Given the description of an element on the screen output the (x, y) to click on. 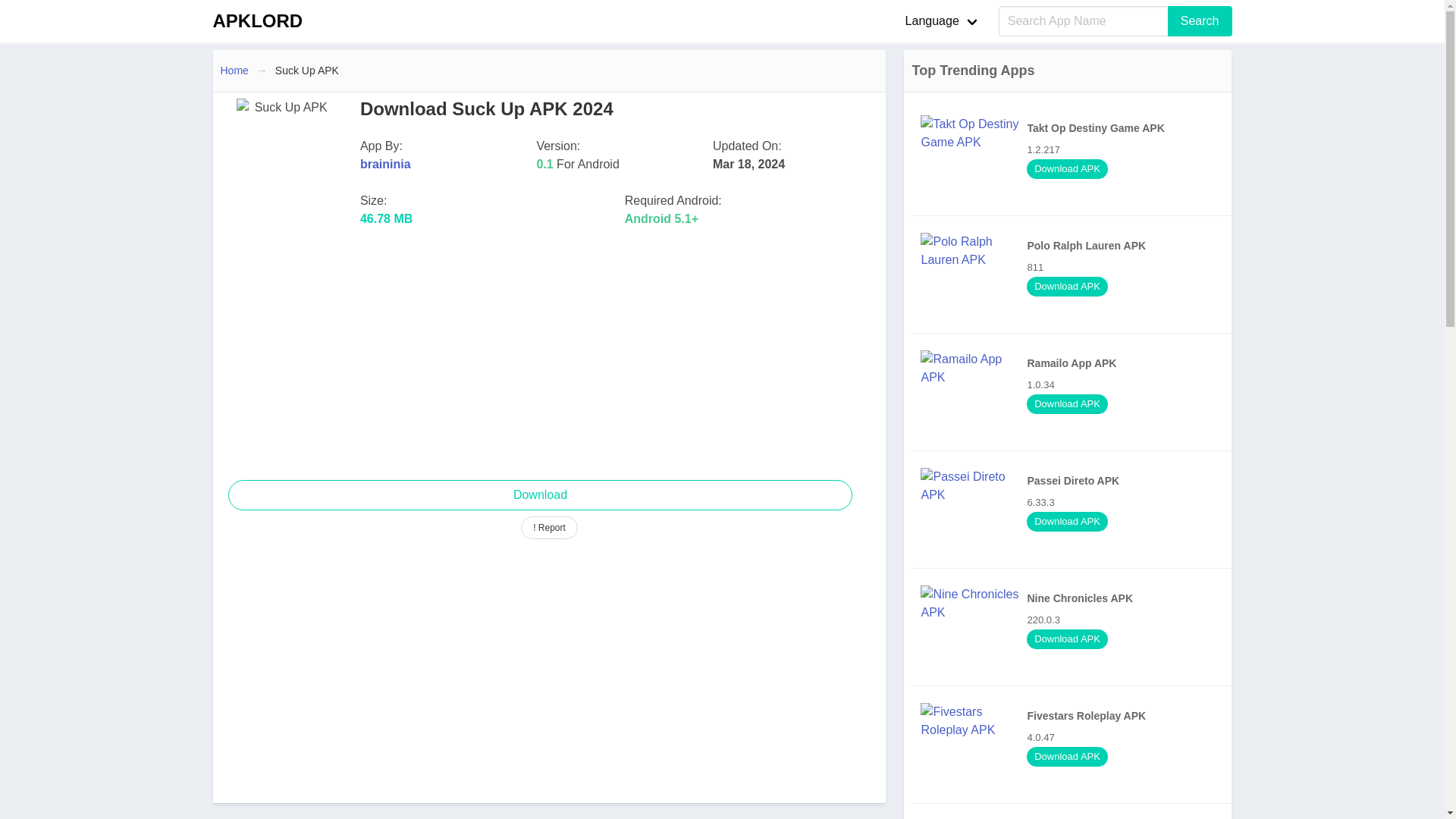
Suck Up APK (306, 70)
Search (1075, 816)
Fivestars Roleplay APK (1199, 20)
Passei Direto APK (1075, 744)
Report Problem for this APP (1075, 509)
APKLORD (549, 527)
Ramailo App APK  (257, 21)
Download (1075, 392)
Language (539, 494)
